Given the description of an element on the screen output the (x, y) to click on. 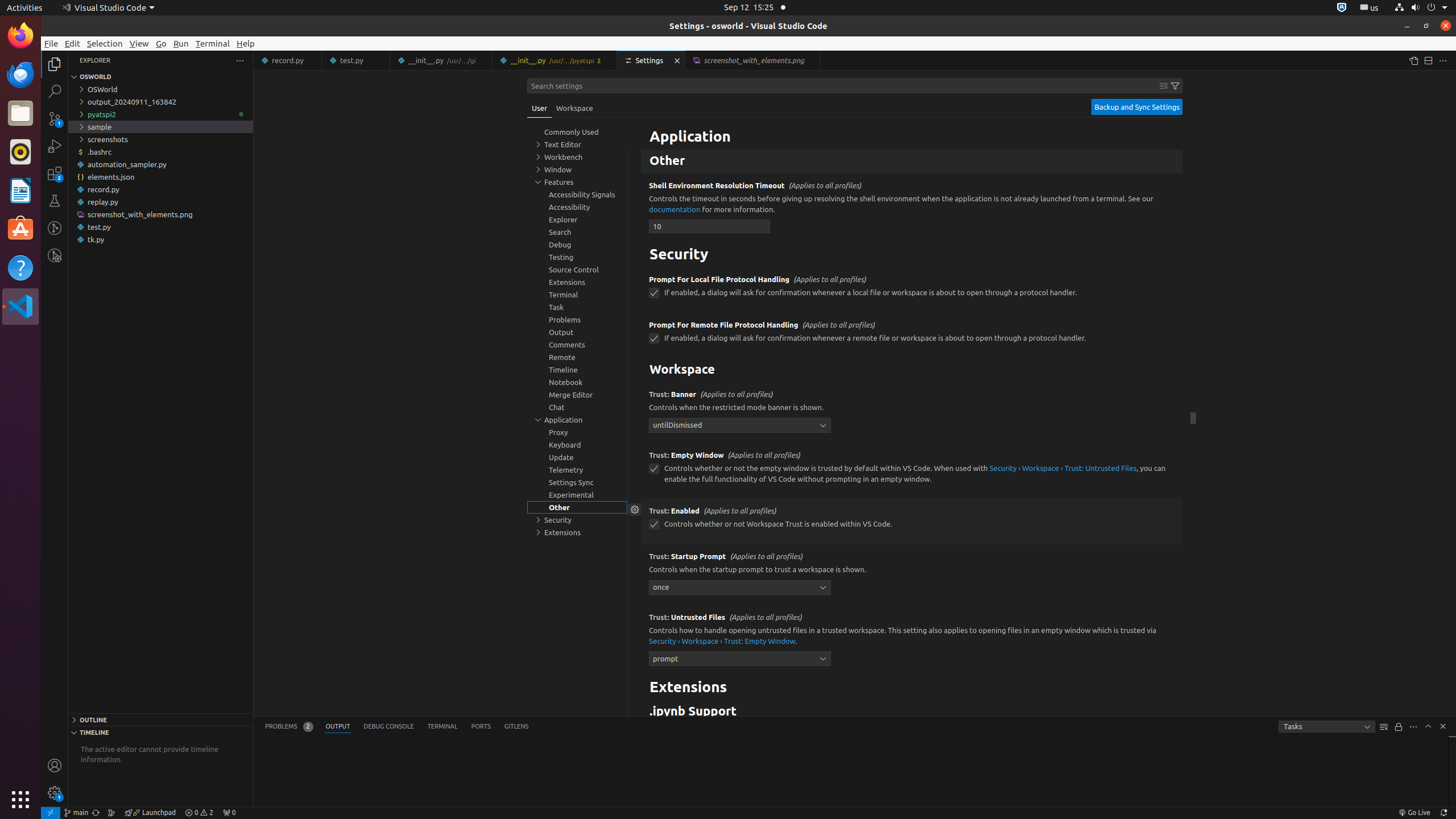
rocket gitlens-unplug Launchpad, GitLens Launchpad ᴘʀᴇᴠɪᴇᴡ    &mdash;    [$(question)](command:gitlens.launchpad.indicator.action?%22info%22 "What is this?") [$(gear)](command:workbench.action.openSettings?%22gitlens.launchpad%22 "Settings")  |  [$(circle-slash) Hide](command:gitlens.launchpad.indicator.action?%22hide%22 "Hide") --- [Launchpad](command:gitlens.launchpad.indicator.action?%info%22 "Learn about Launchpad") organizes your pull requests into actionable groups to help you focus and keep your team unblocked. It's always accessible using the `GitLens: Open Launchpad` command from the Command Palette. --- [Connect an integration](command:gitlens.showLaunchpad?%7B%22source%22%3A%22launchpad-indicator%22%7D "Connect an integration") to get started. Element type: push-button (150, 812)
Go Element type: push-button (161, 43)
Notebook, group Element type: tree-item (577, 381)
 Renderer Profiling. When enabled slow renderers are automatically profiled  Element type: tree-item (911, 126)
record.py Element type: page-tab (287, 60)
